Given the description of an element on the screen output the (x, y) to click on. 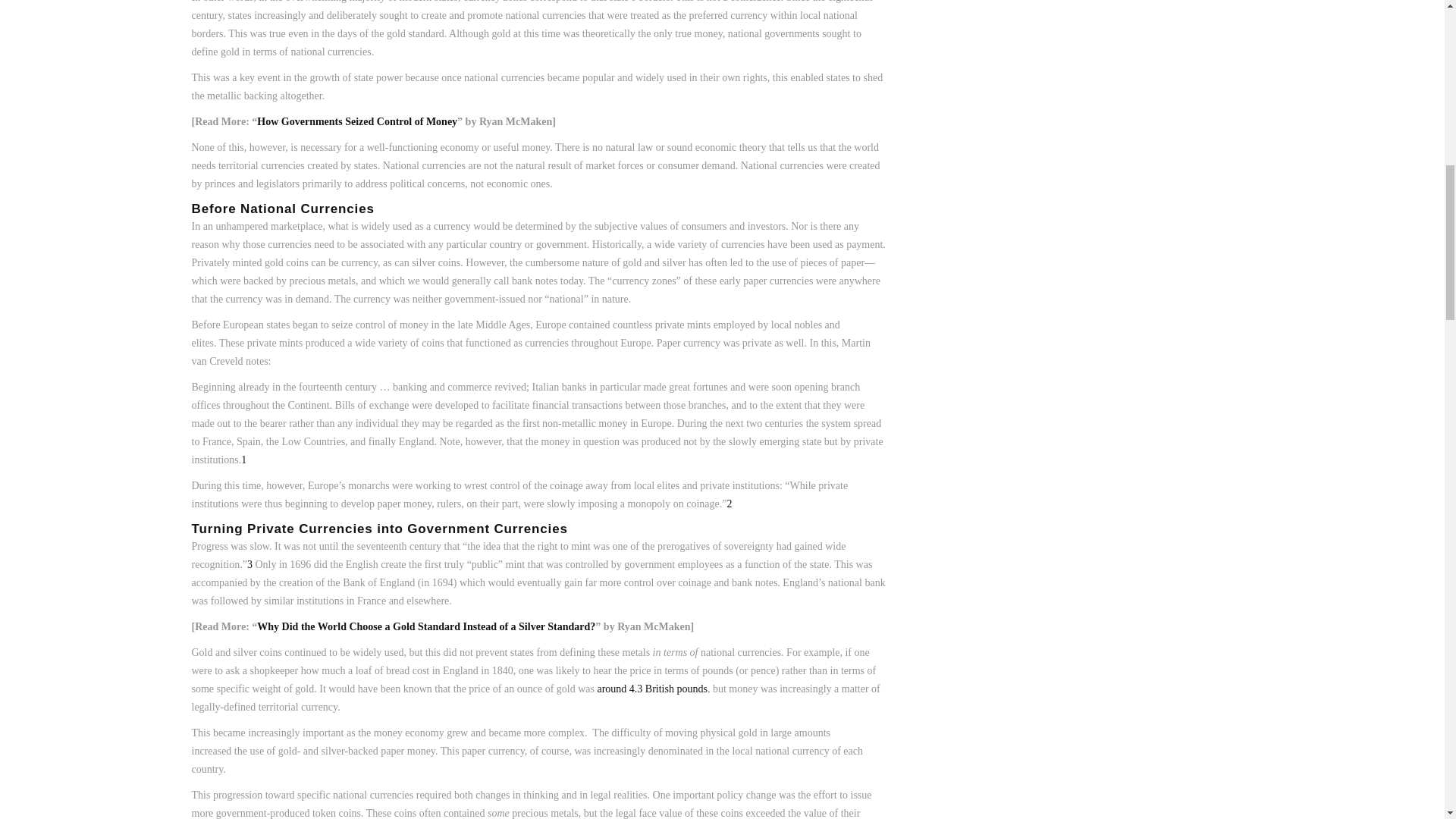
Ibid., p. 227. (249, 564)
Ibid. (729, 503)
1 (243, 460)
3 (249, 564)
2 (729, 503)
How Governments Seized Control of Money (357, 121)
around 4.3 British pounds (651, 688)
